Given the description of an element on the screen output the (x, y) to click on. 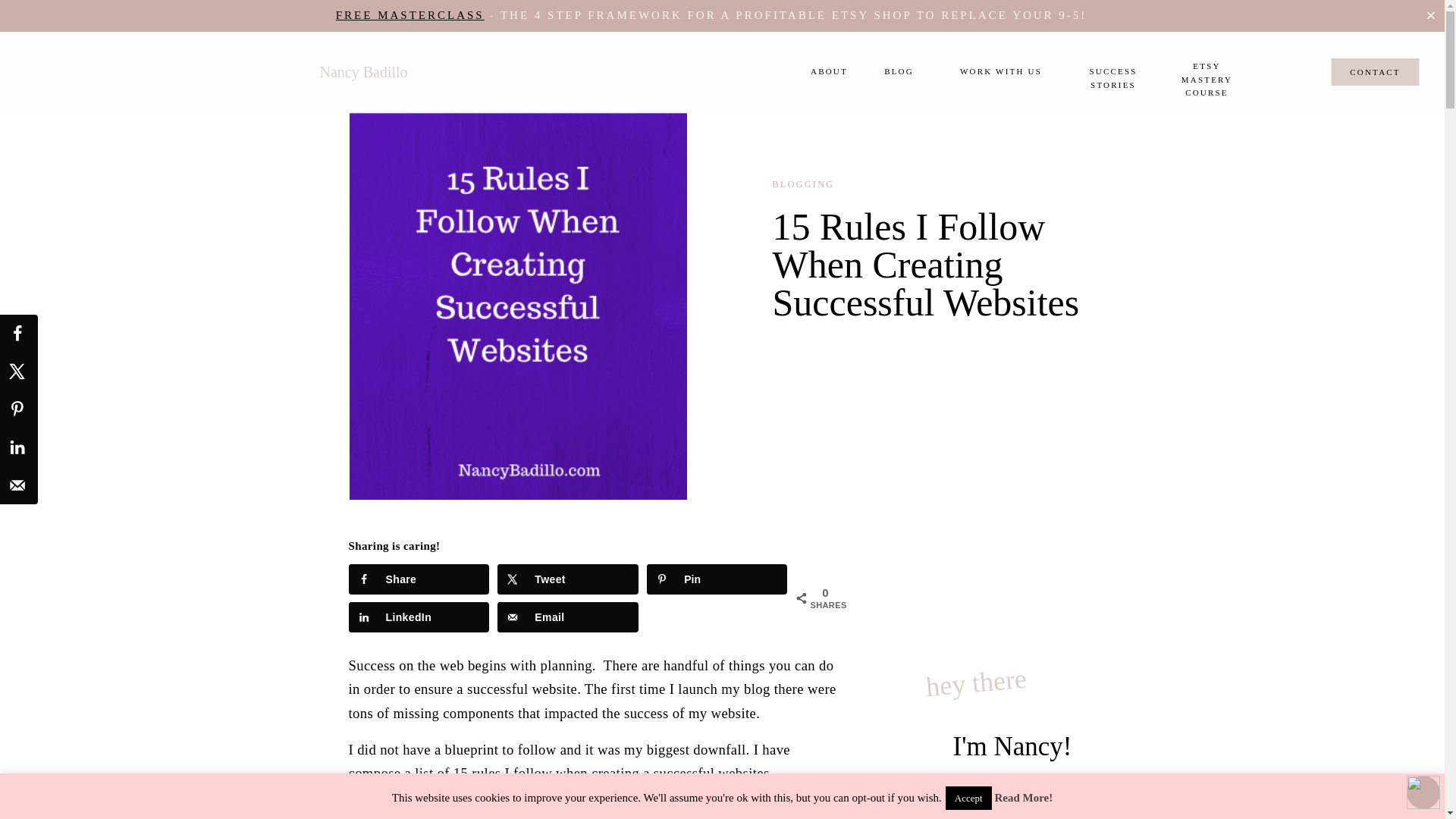
Share on LinkedIn (419, 616)
BLOG (898, 70)
Share on Facebook (18, 333)
BLOGGING (802, 184)
WORK WITH US (1000, 71)
SUCCESS STORIES (1112, 71)
ABOUT (827, 72)
Accessibility Menu (1422, 792)
Send over email (567, 616)
